Given the description of an element on the screen output the (x, y) to click on. 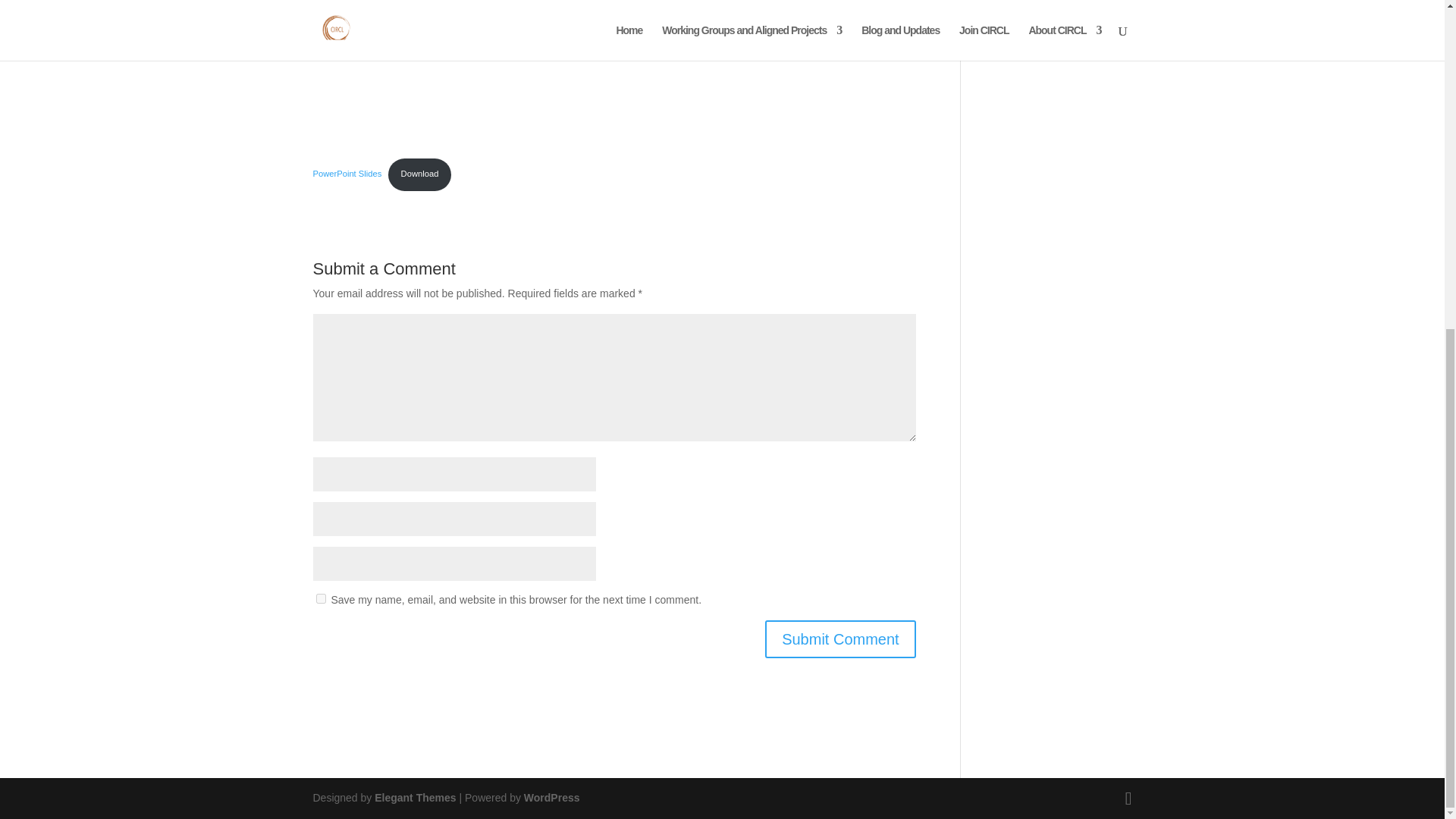
yes (319, 598)
SLAAIT in Brief: AI Policy at the State Level (1048, 22)
Submit Comment (840, 638)
Submit Comment (840, 638)
Premium WordPress Themes (414, 797)
SLAAIT Update Computers in Libraries (614, 74)
PowerPoint Slides (347, 173)
Download (419, 174)
